Given the description of an element on the screen output the (x, y) to click on. 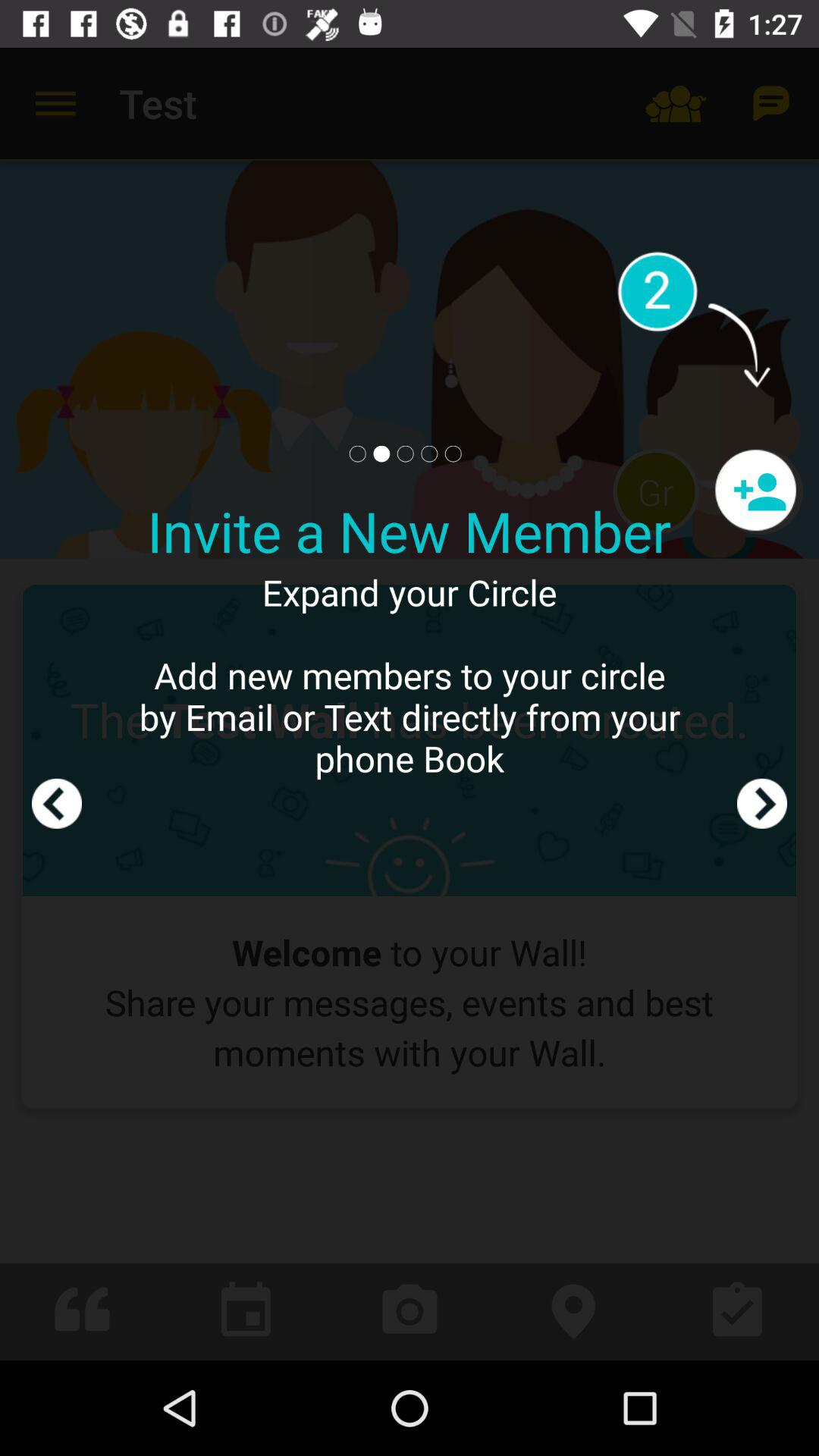
go to backpage (56, 703)
